Given the description of an element on the screen output the (x, y) to click on. 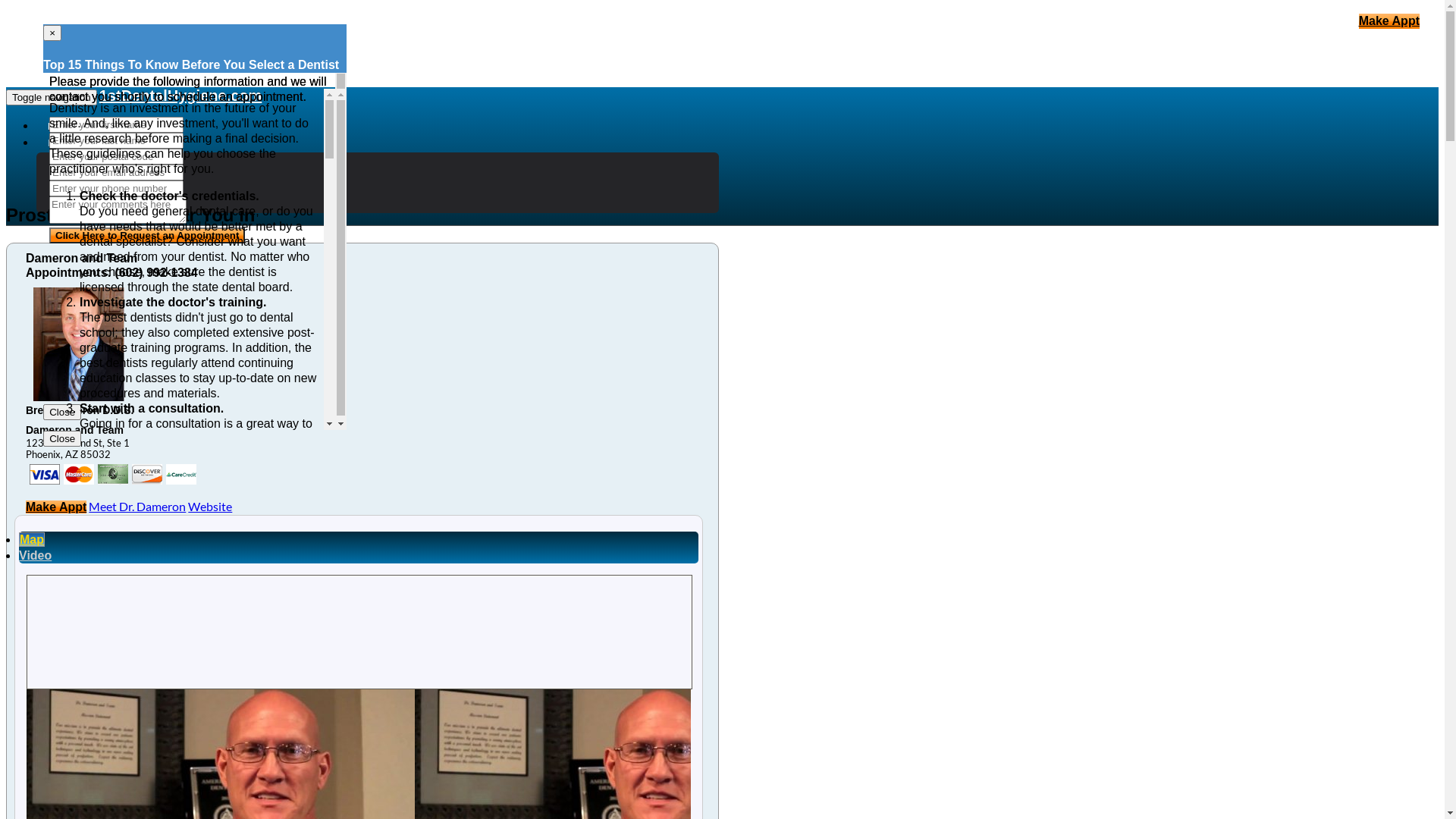
Dental Hygiene Articles Element type: text (102, 142)
my title Element type: hover (78, 474)
Teeth Cleaning Element type: text (105, 204)
Video Element type: text (34, 555)
Close Element type: text (62, 412)
Dental Hygienist Element type: text (110, 159)
Make Appt Element type: text (1388, 20)
Website Element type: text (210, 505)
Oral Health Element type: text (97, 174)
my title Element type: hover (181, 474)
my title Element type: hover (146, 474)
my title Element type: hover (112, 474)
Home Element type: text (61, 125)
Toggle navigation Element type: text (51, 97)
1stDentalHygiene.com Element type: text (180, 94)
Dental Cleaning Element type: text (108, 189)
Make Appt Element type: text (55, 506)
Map Element type: text (31, 539)
my title Element type: hover (44, 474)
Close Element type: text (62, 438)
Meet Dr. Dameron Element type: text (136, 505)
